Given the description of an element on the screen output the (x, y) to click on. 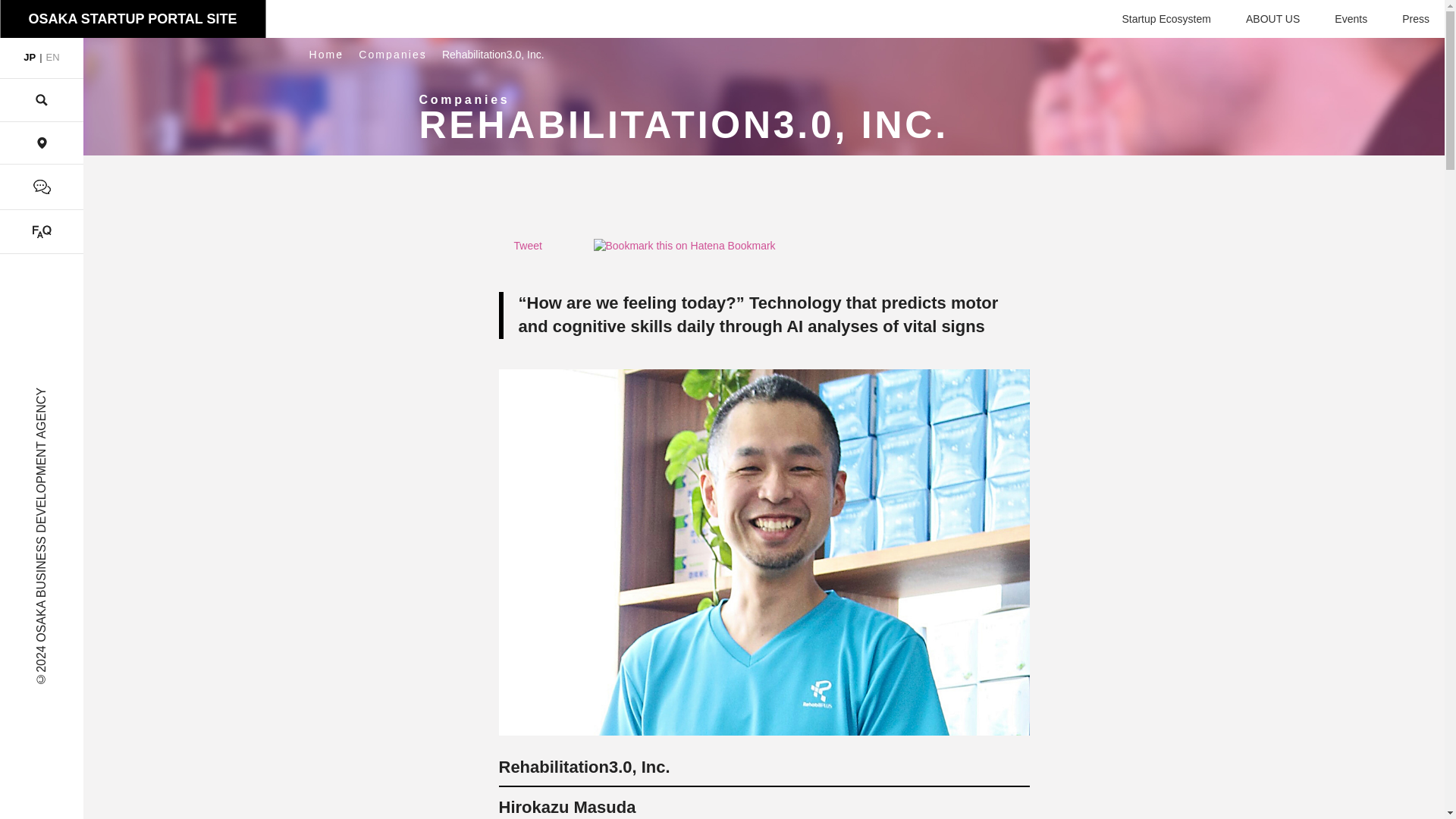
JP (31, 57)
Press (1415, 19)
OSAKA STARTUP PORTAL SITE (132, 18)
Companies (392, 54)
Events (1351, 19)
Home (325, 54)
Tweet (527, 250)
Bookmark this on Hatena Bookmark (683, 250)
ABOUT US (1273, 19)
Startup Ecosystem (1166, 19)
